Given the description of an element on the screen output the (x, y) to click on. 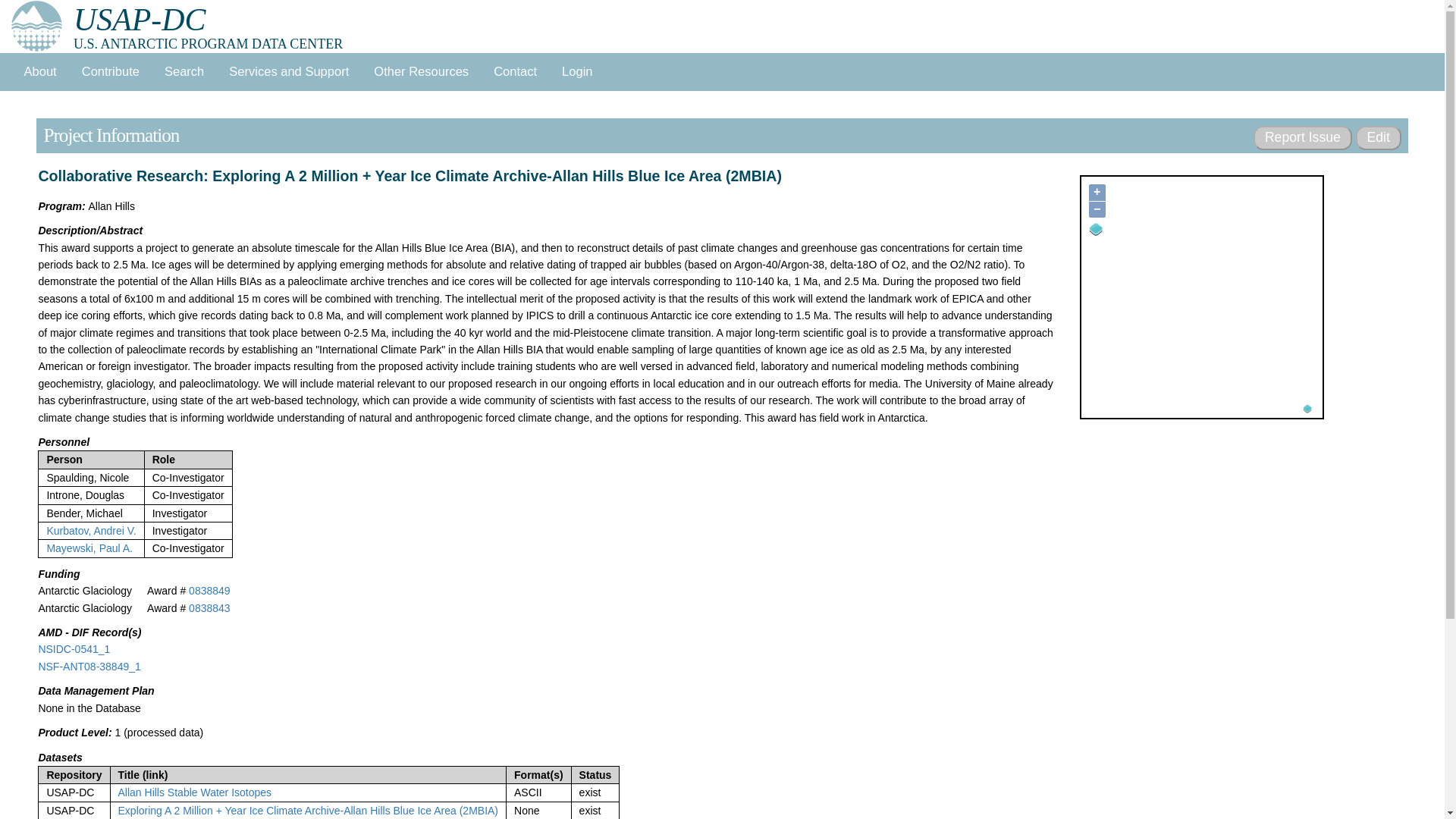
About (39, 71)
U.S. ANTARCTIC PROGRAM DATA CENTER (139, 19)
Zoom in (1097, 192)
Other Resources (421, 71)
Contribute (109, 71)
Edit (1377, 137)
Search (183, 71)
Report Issue (1302, 137)
Services and Support (288, 71)
Kurbatov, Andrei V. (90, 530)
USAP-DC (139, 19)
Zoom out (1097, 209)
Contact (515, 71)
Login (577, 71)
